Given the description of an element on the screen output the (x, y) to click on. 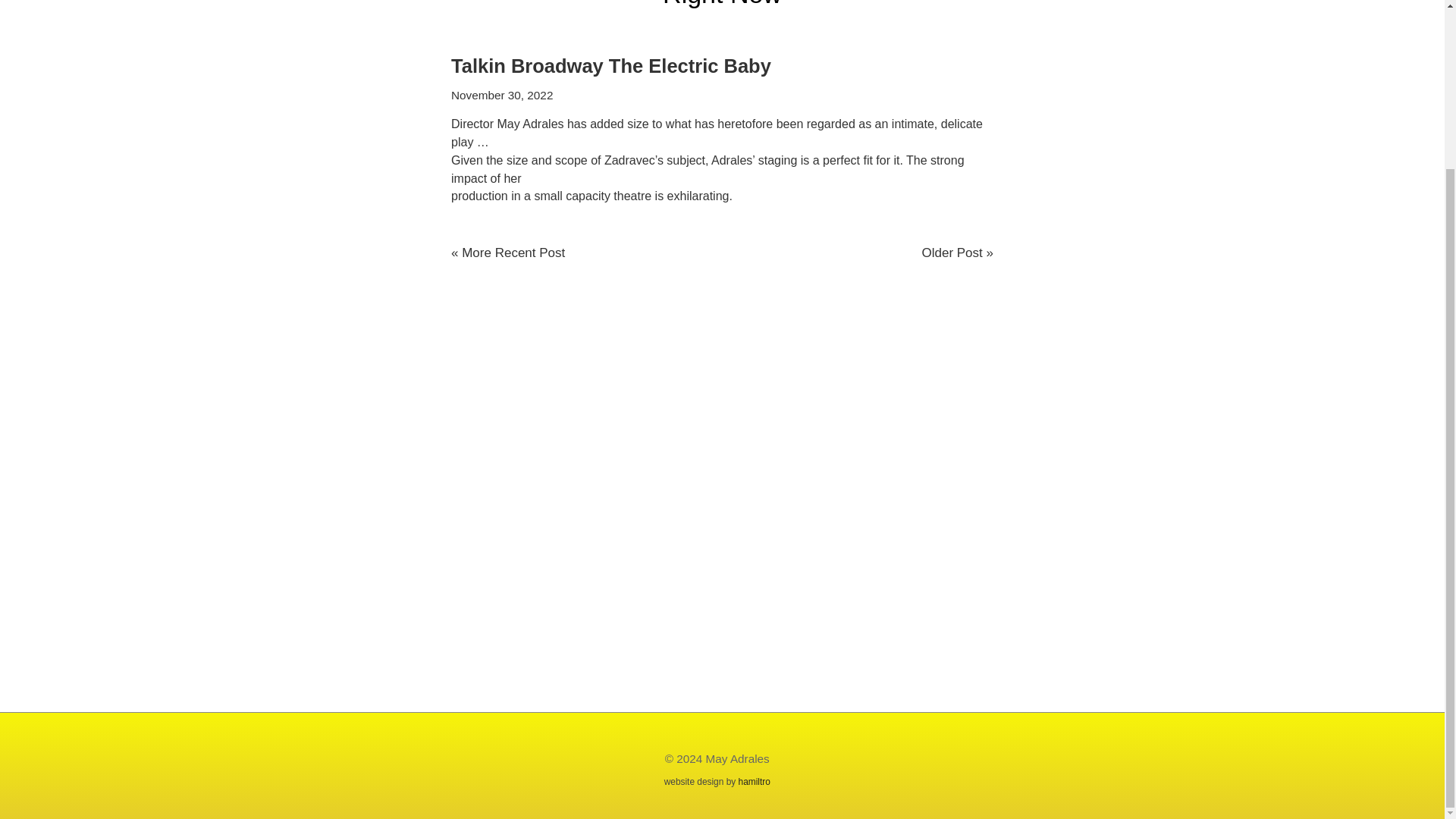
Right Now (721, 4)
hamiltro (754, 781)
May Adrales (738, 758)
